Given the description of an element on the screen output the (x, y) to click on. 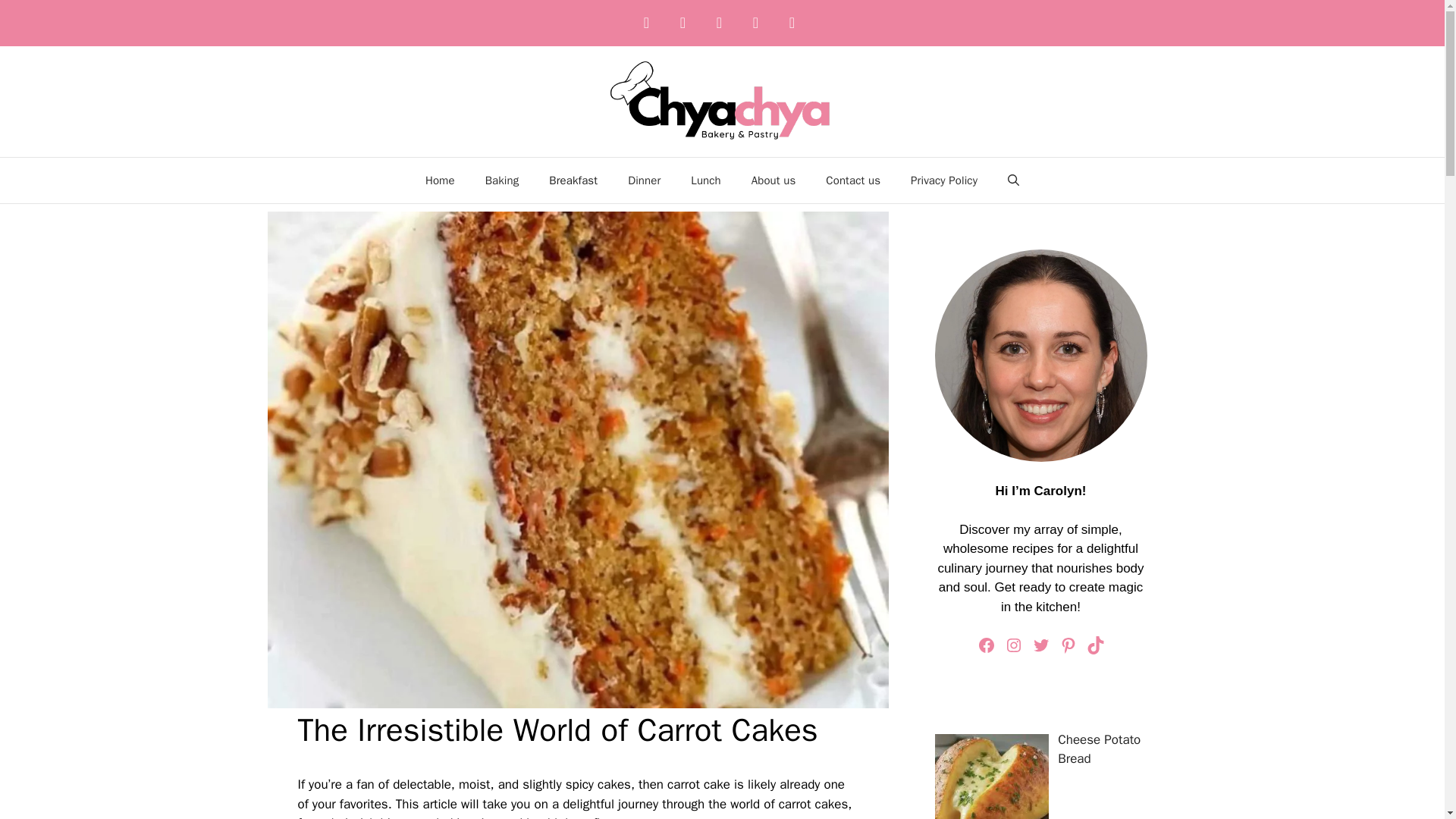
Contact us (852, 180)
Baking (502, 180)
Home (440, 180)
Breakfast (573, 180)
Dinner (643, 180)
Facebook (985, 645)
Lunch (705, 180)
About us (773, 180)
Instagram (1013, 645)
Pinterest (1067, 645)
Cheese Potato Bread (1099, 749)
Twitter (1039, 645)
Privacy Policy (943, 180)
TikTok (1094, 645)
